Given the description of an element on the screen output the (x, y) to click on. 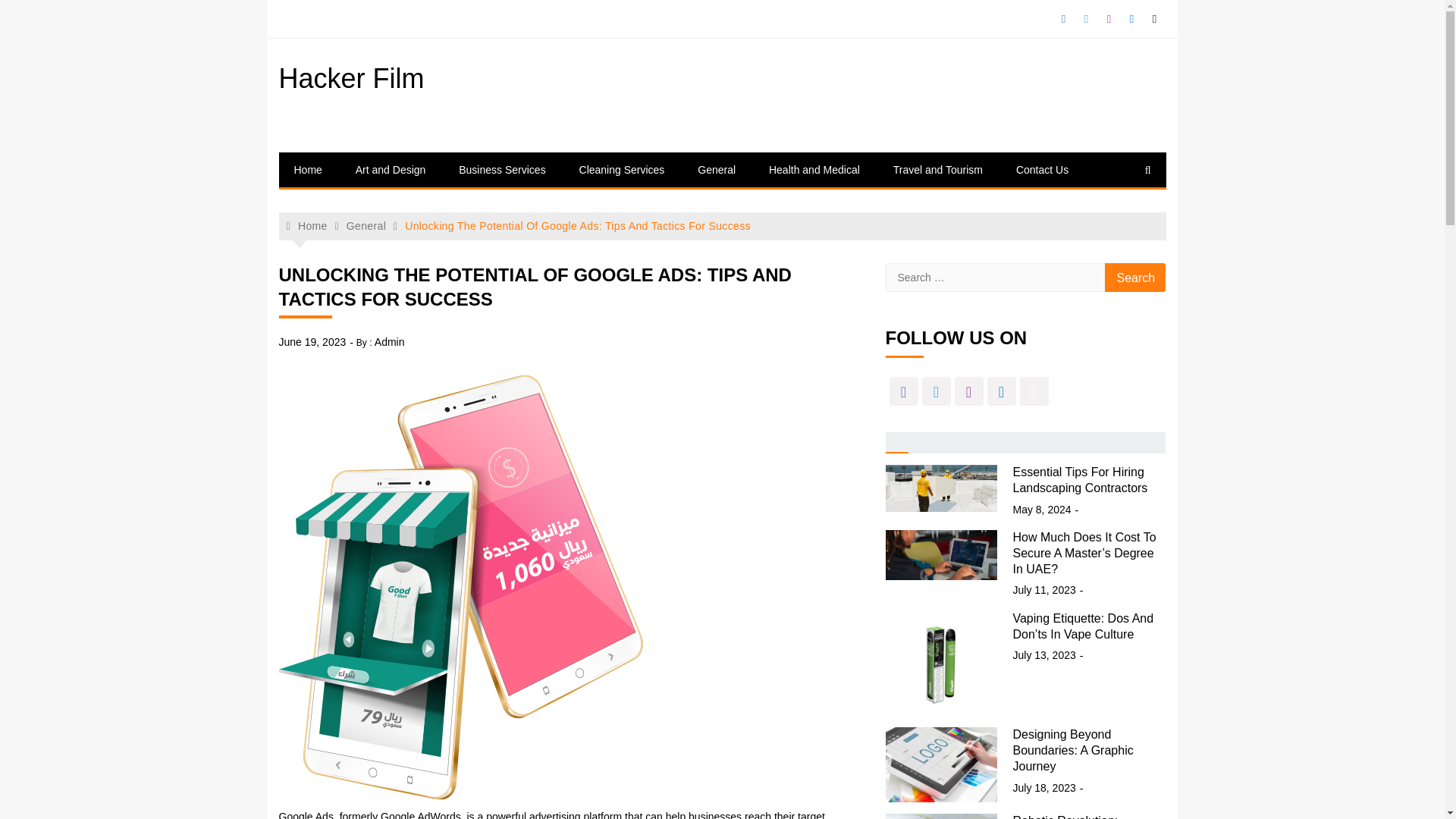
General (716, 169)
June 19, 2023 (312, 341)
Home (306, 226)
Home (308, 169)
General (365, 225)
Health and Medical (814, 169)
Search (1135, 276)
Cleaning Services (621, 169)
Admin (389, 341)
Hacker Film (352, 78)
